Given the description of an element on the screen output the (x, y) to click on. 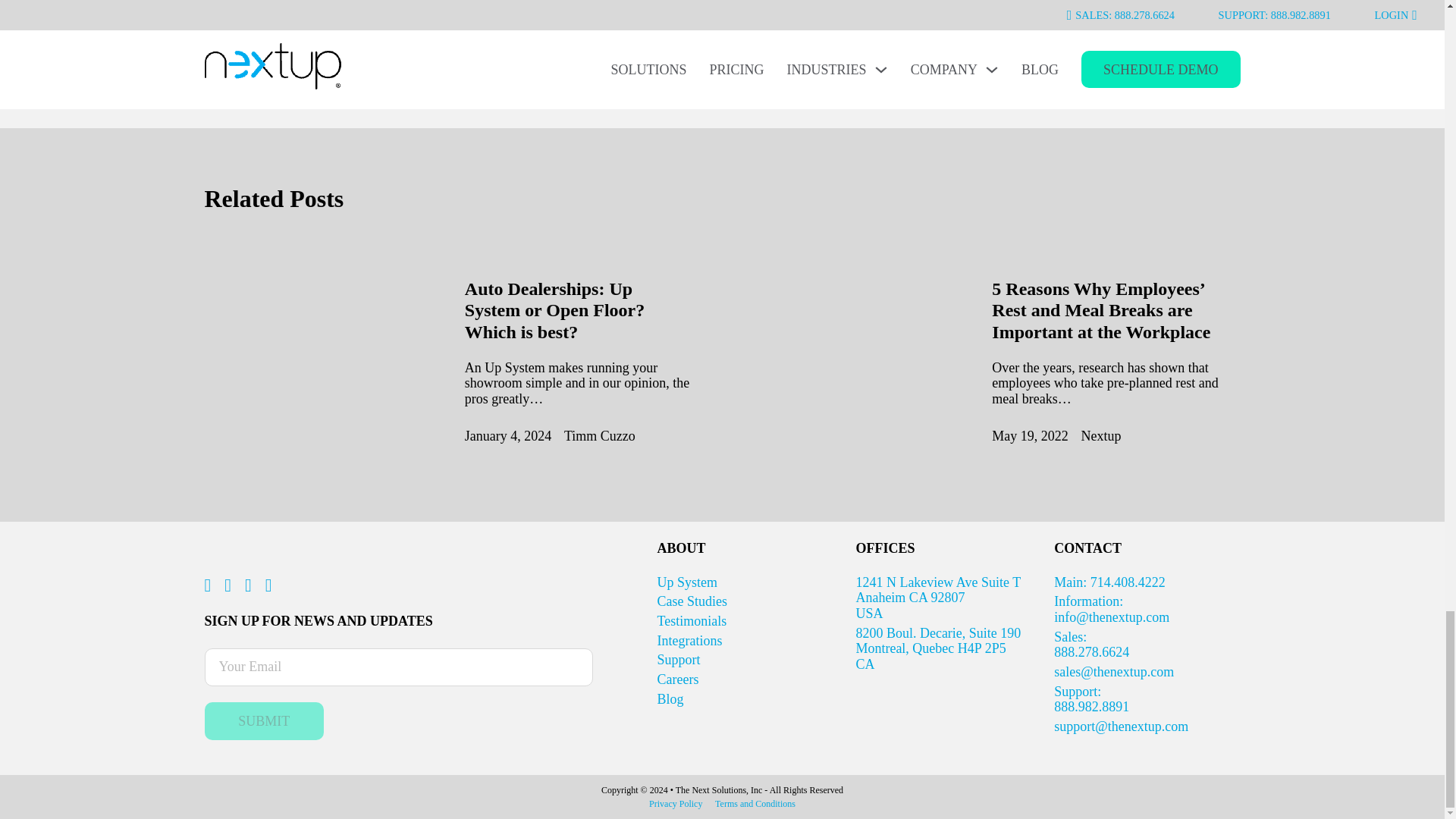
Case Studies (693, 601)
Up System (687, 581)
SUBMIT (264, 720)
Testimonials (554, 311)
LinkedIn (692, 620)
